Given the description of an element on the screen output the (x, y) to click on. 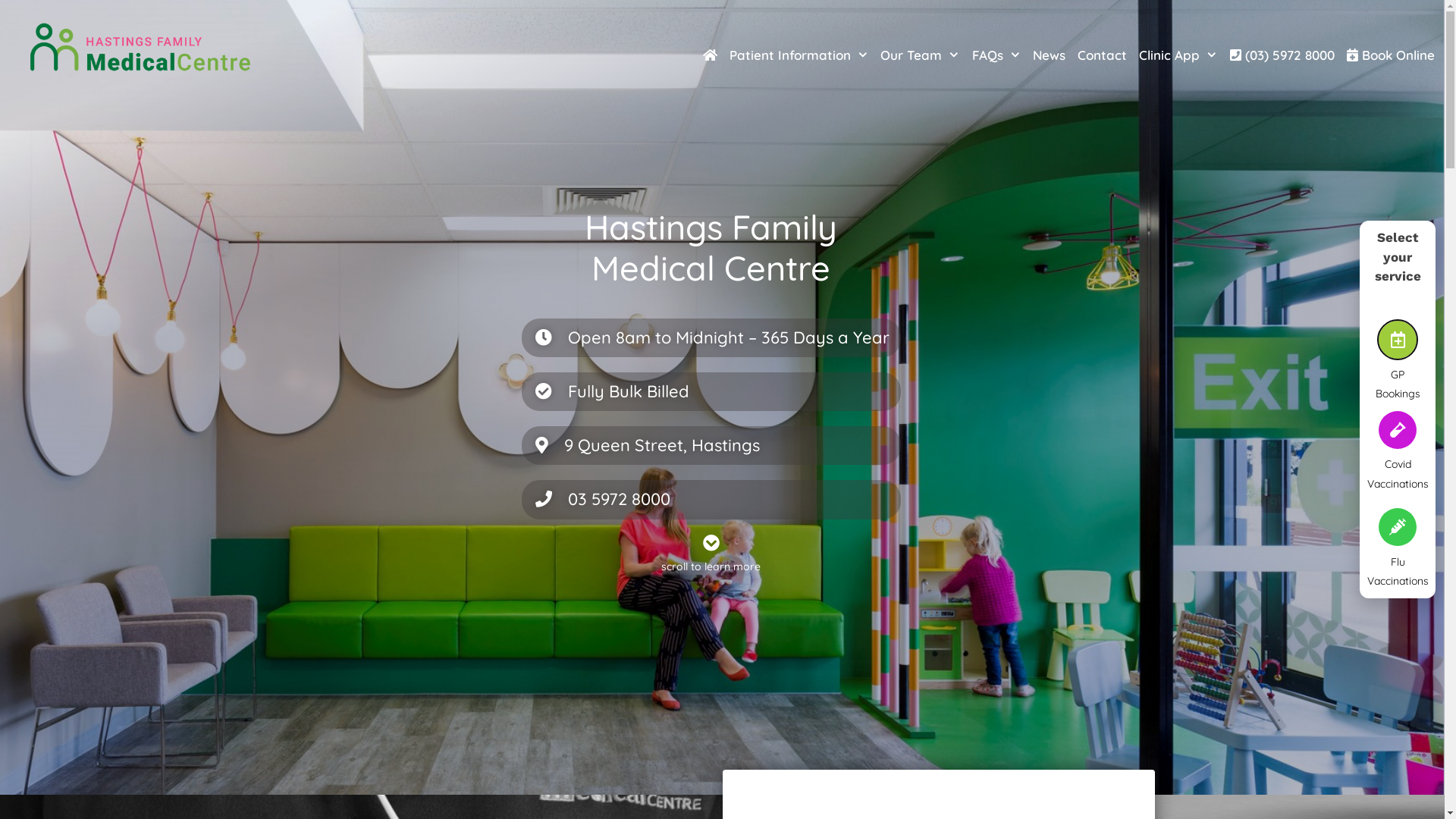
GP Bookings Element type: text (1397, 384)
News Element type: text (1048, 54)
Flu Vaccinations Element type: text (1397, 571)
Hastings Medical Centre Element type: hover (140, 45)
Covid Vaccinations Element type: text (1397, 473)
Hastings Medical Centre Element type: hover (140, 46)
(03) 5972 8000 Element type: text (1281, 54)
FAQs Element type: text (996, 54)
Book Online Element type: text (1390, 54)
Contact Element type: text (1101, 54)
Clinic App Element type: text (1177, 54)
Patient Information Element type: text (799, 54)
03 5972 8000 Element type: text (618, 498)
Our Team Element type: text (920, 54)
